Given the description of an element on the screen output the (x, y) to click on. 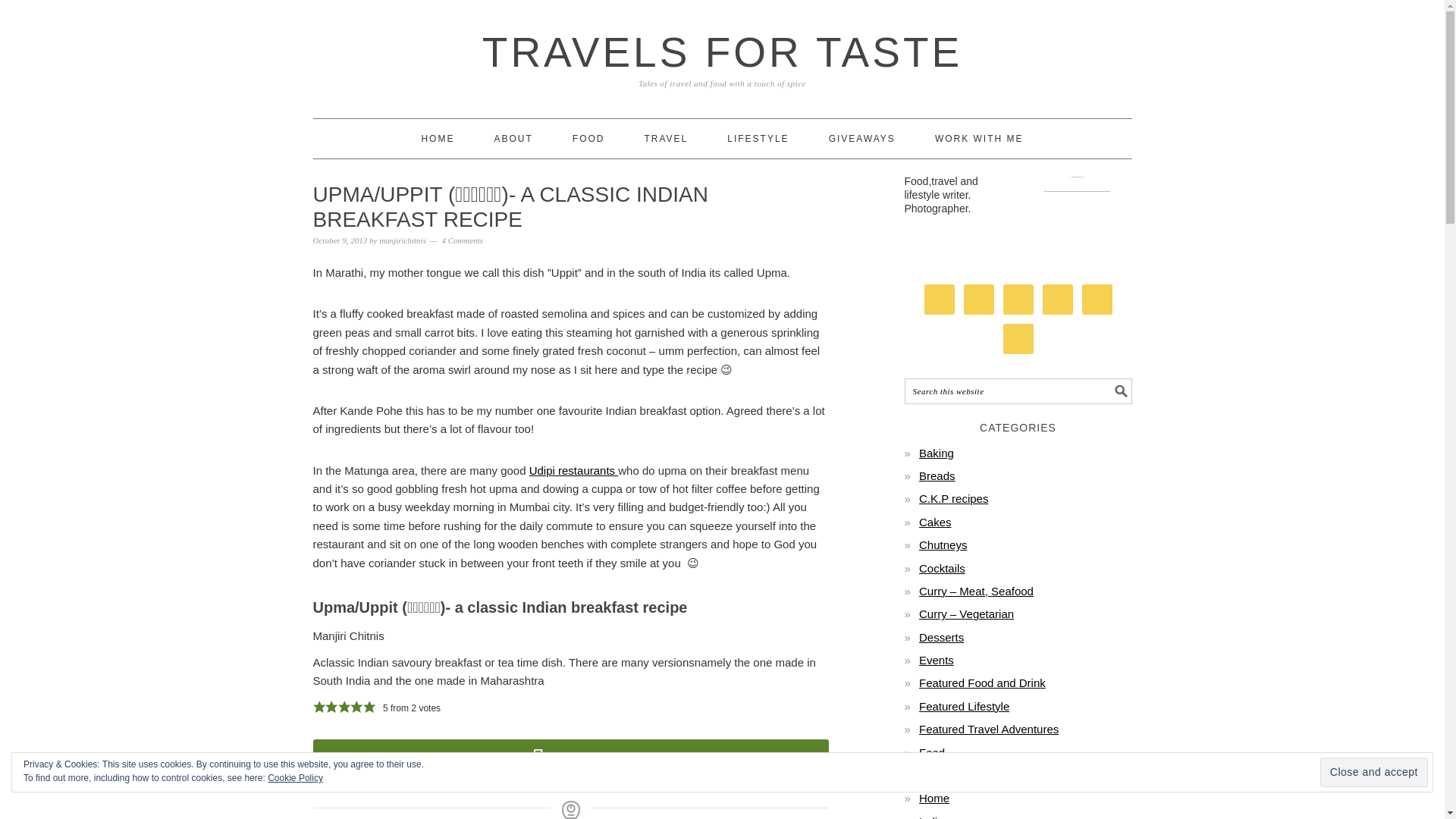
HOME (437, 138)
TRAVELS FOR TASTE (721, 52)
ABOUT (512, 138)
Close and accept (1374, 772)
TRAVEL (665, 138)
FOOD (588, 138)
GIVEAWAYS (861, 138)
manjirichitnis (402, 239)
LIFESTYLE (757, 138)
WORK WITH ME (978, 138)
